Given the description of an element on the screen output the (x, y) to click on. 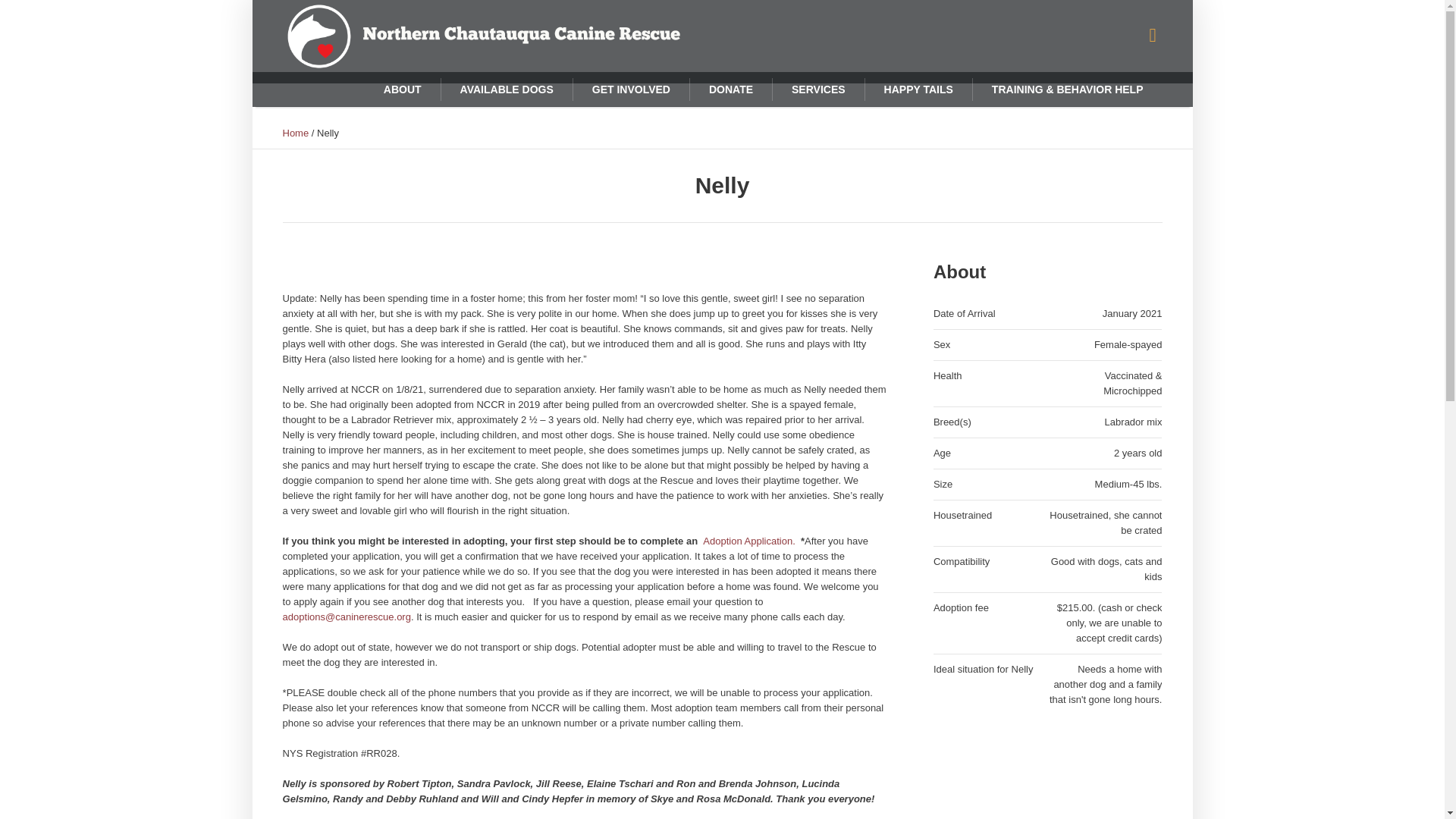
Home (295, 132)
SERVICES (817, 89)
ABOUT (403, 89)
AVAILABLE DOGS (506, 89)
Adoption Application. (748, 541)
DONATE (729, 89)
GET INVOLVED (630, 89)
HAPPY TAILS (918, 89)
